Given the description of an element on the screen output the (x, y) to click on. 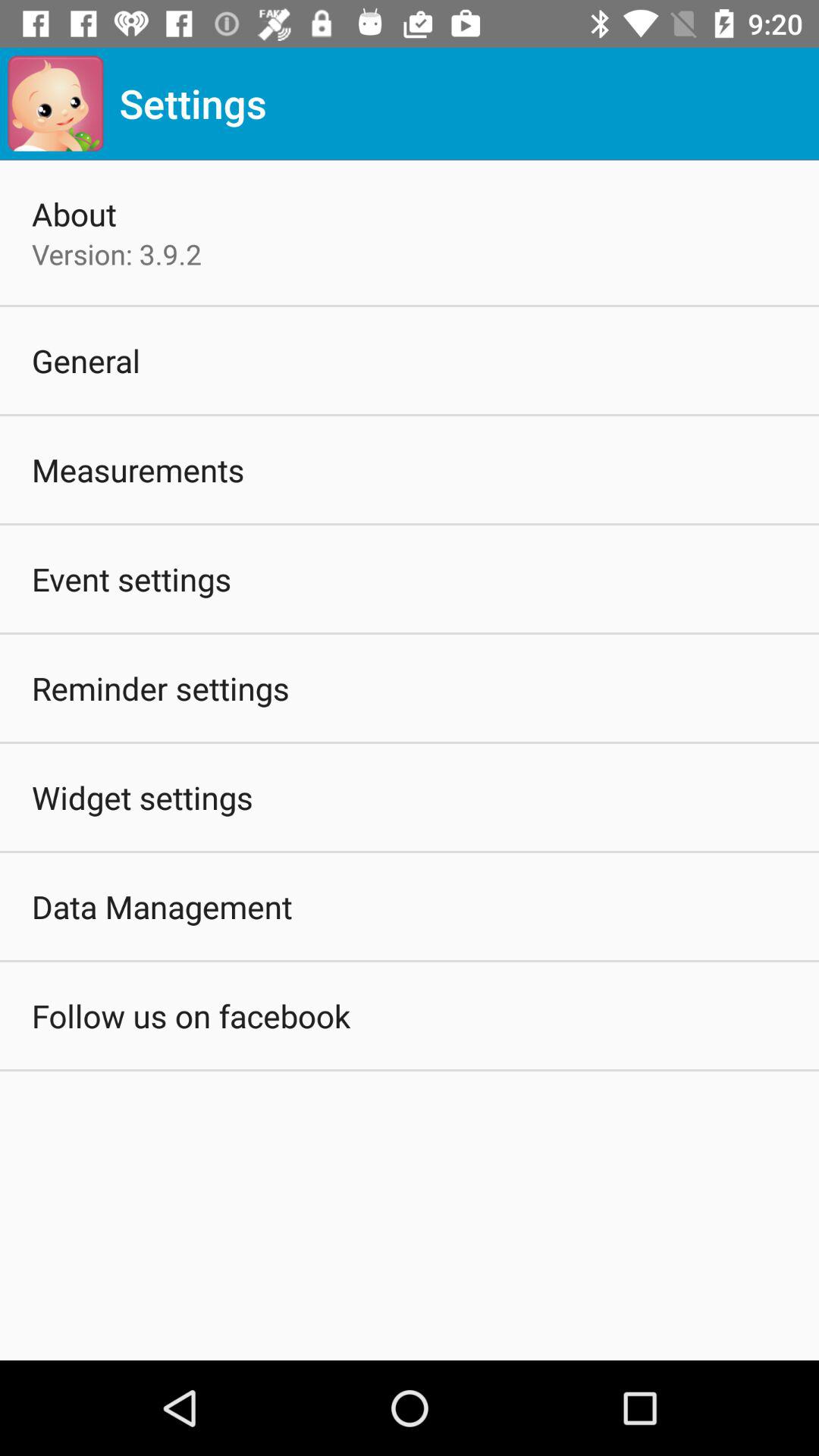
choose version 3 9 item (116, 254)
